Given the description of an element on the screen output the (x, y) to click on. 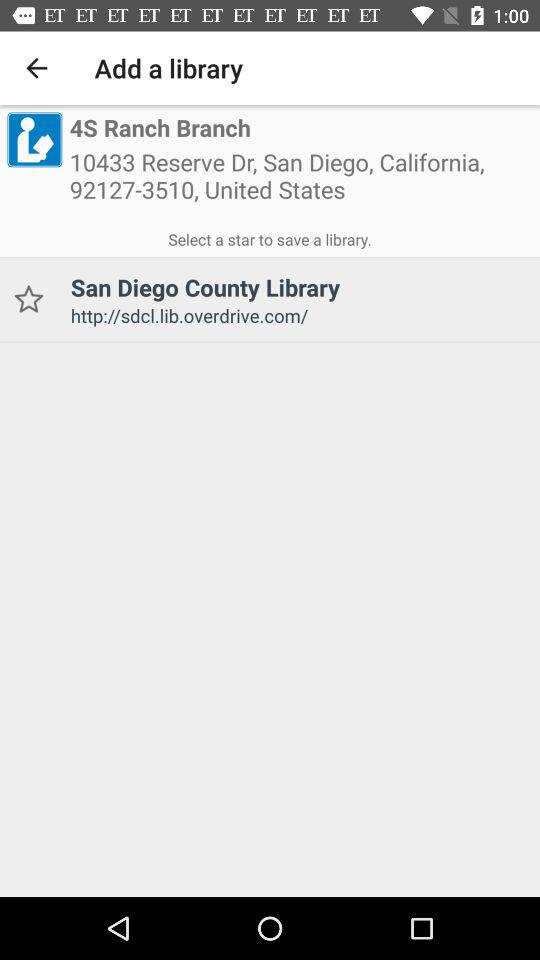
tap the icon next to the add a library icon (36, 68)
